Given the description of an element on the screen output the (x, y) to click on. 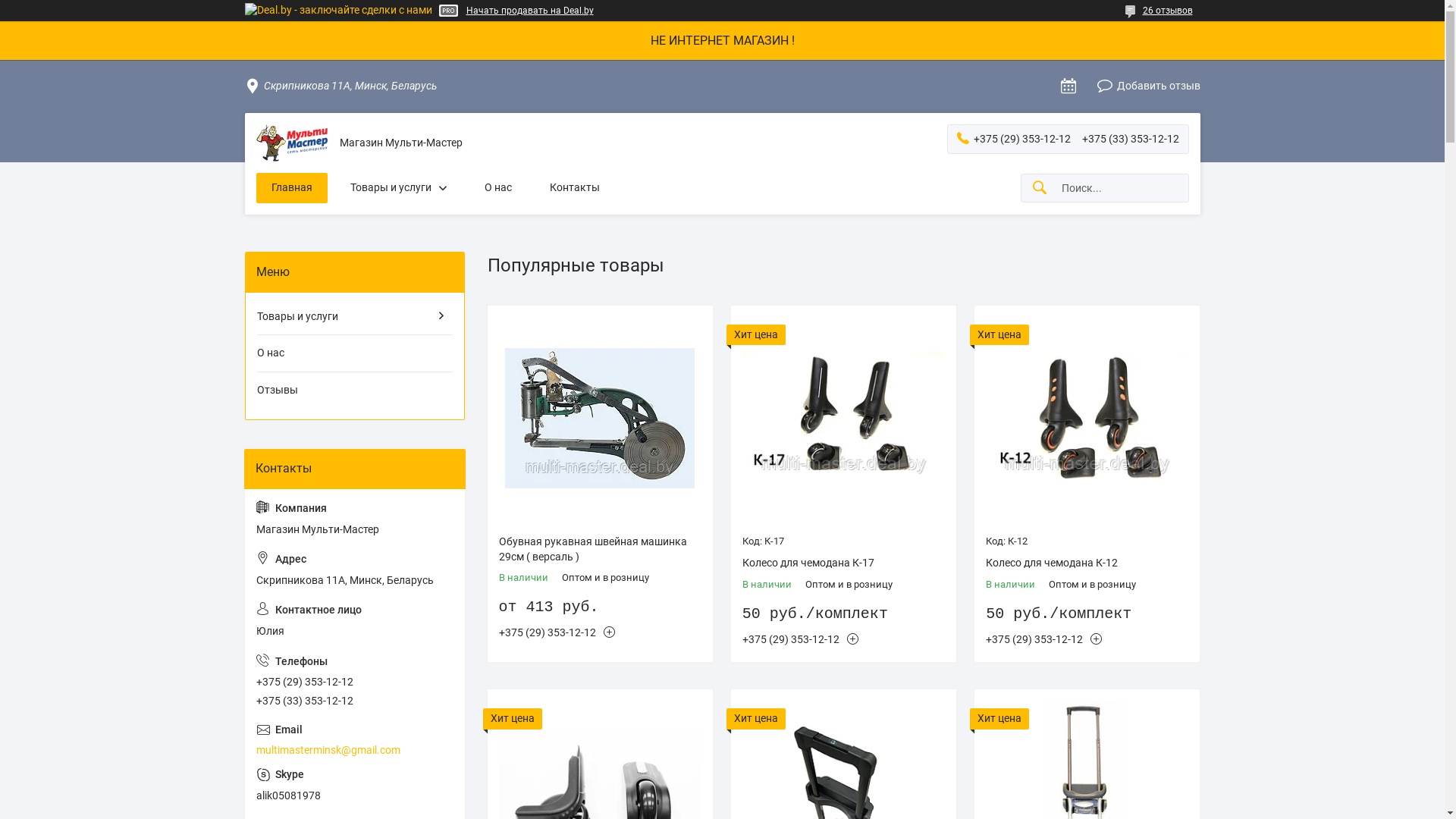
multimasterminsk@gmail.com Element type: text (354, 740)
